Given the description of an element on the screen output the (x, y) to click on. 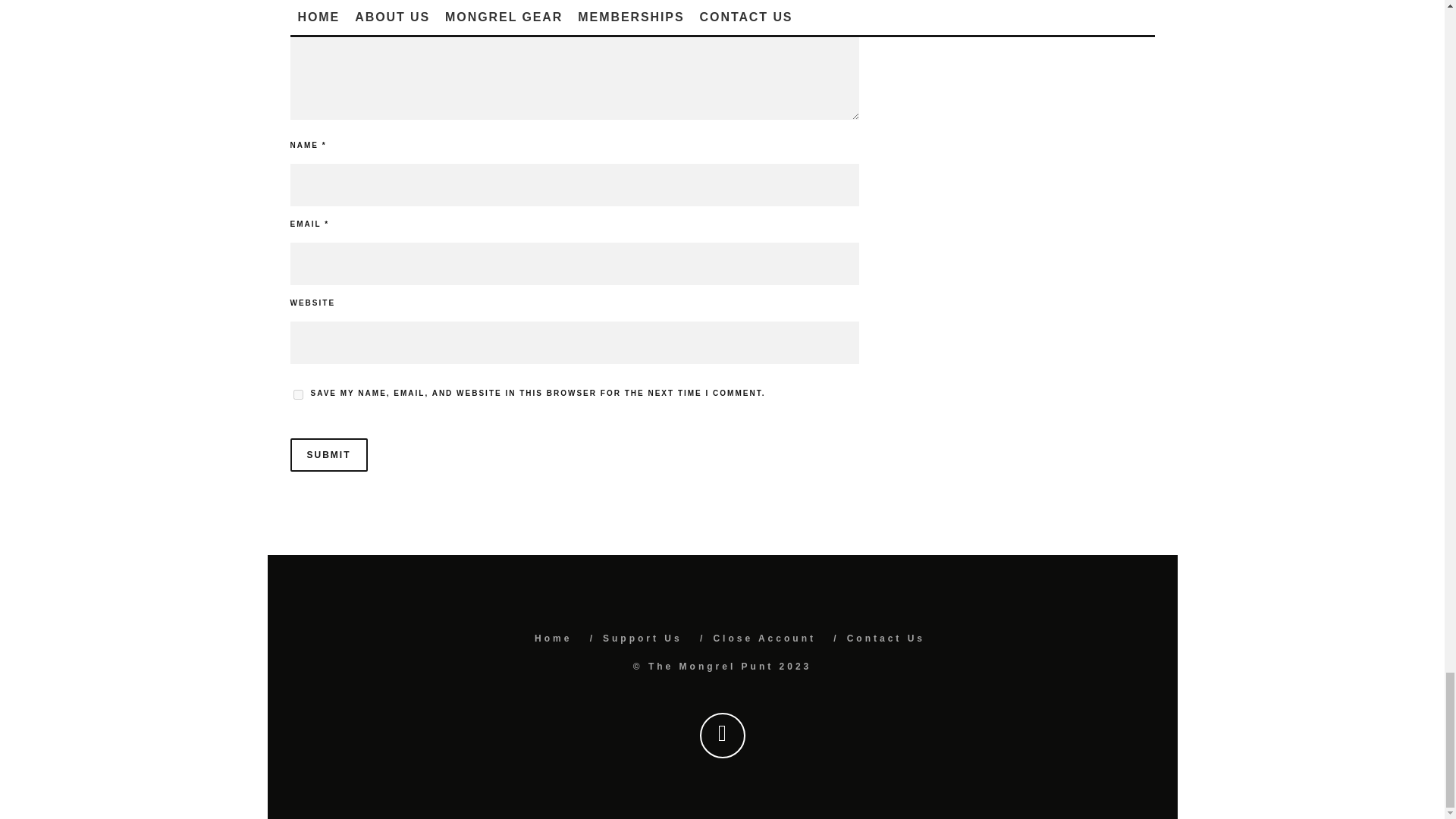
yes (297, 394)
Submit (327, 454)
